Given the description of an element on the screen output the (x, y) to click on. 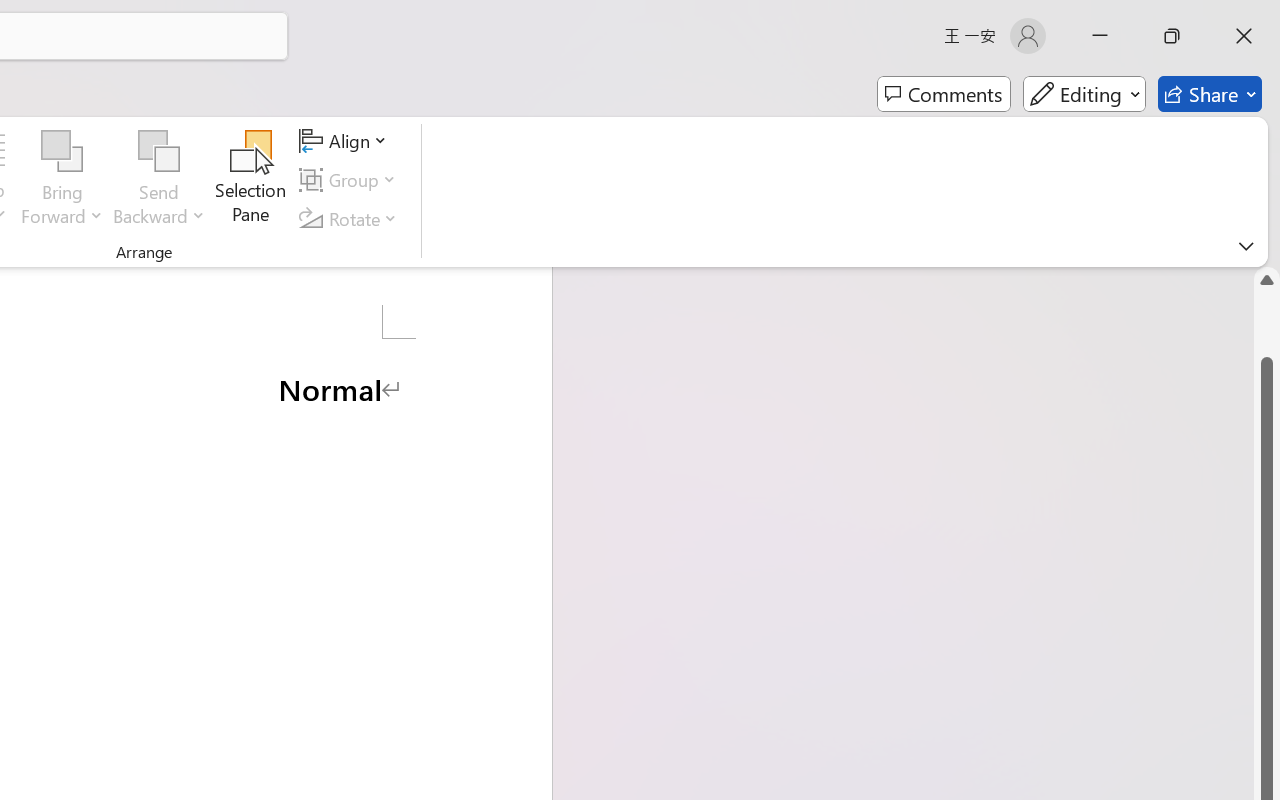
Bring Forward (62, 179)
Align (346, 141)
Page up (1267, 324)
Group (351, 179)
Selection Pane... (251, 179)
Line up (1267, 279)
Bring Forward (62, 151)
Send Backward (159, 179)
Send Backward (159, 151)
Rotate (351, 218)
